Given the description of an element on the screen output the (x, y) to click on. 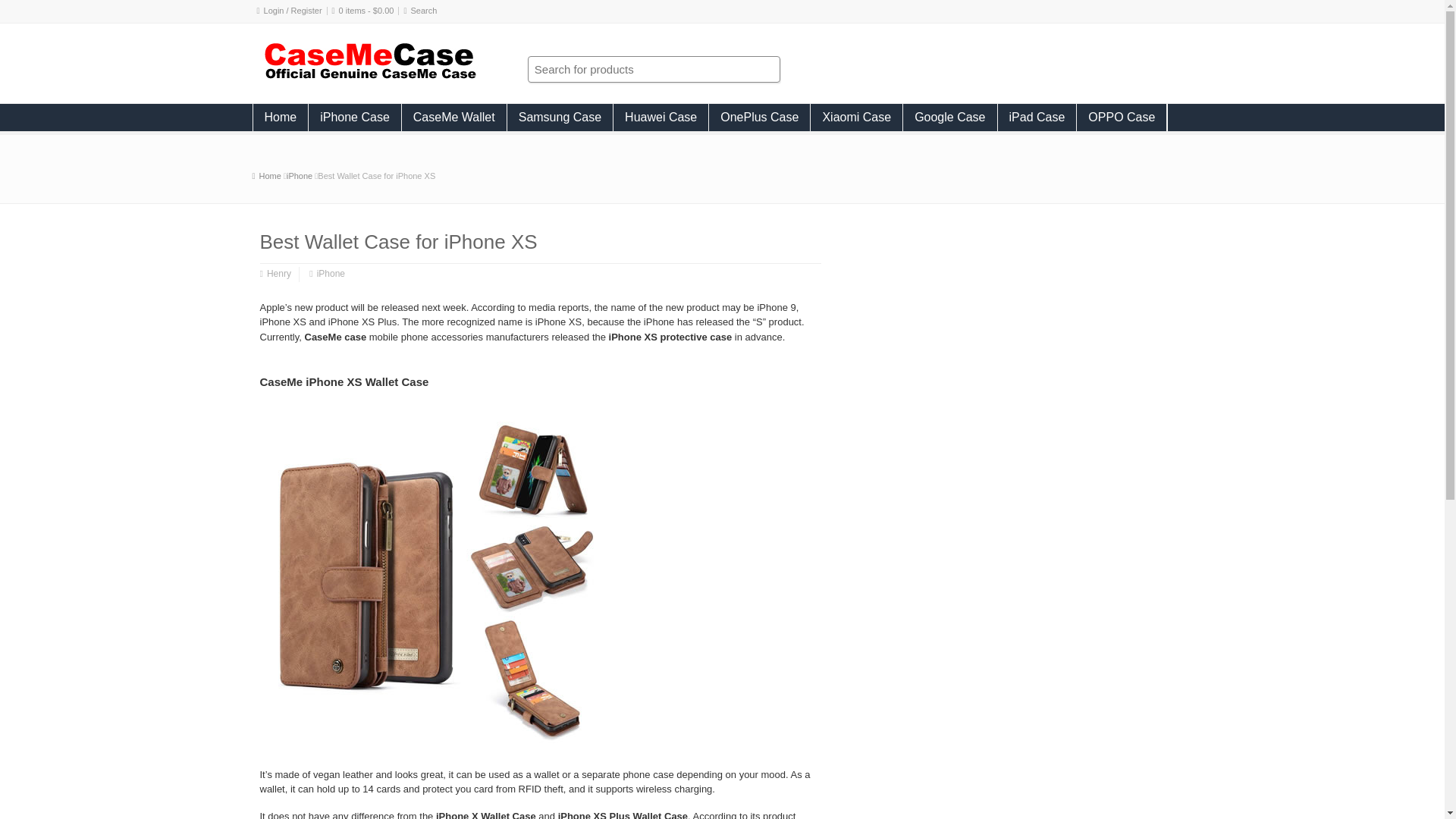
View your shopping cart (366, 10)
Home (280, 117)
Search (424, 10)
Search (424, 10)
Official CaseMe Case (369, 76)
Posts by Henry (278, 273)
View all posts in iPhone (299, 175)
iPhone Case (354, 117)
Best Wallet Case for iPhone XS (376, 175)
Official CaseMe Case (270, 175)
